Given the description of an element on the screen output the (x, y) to click on. 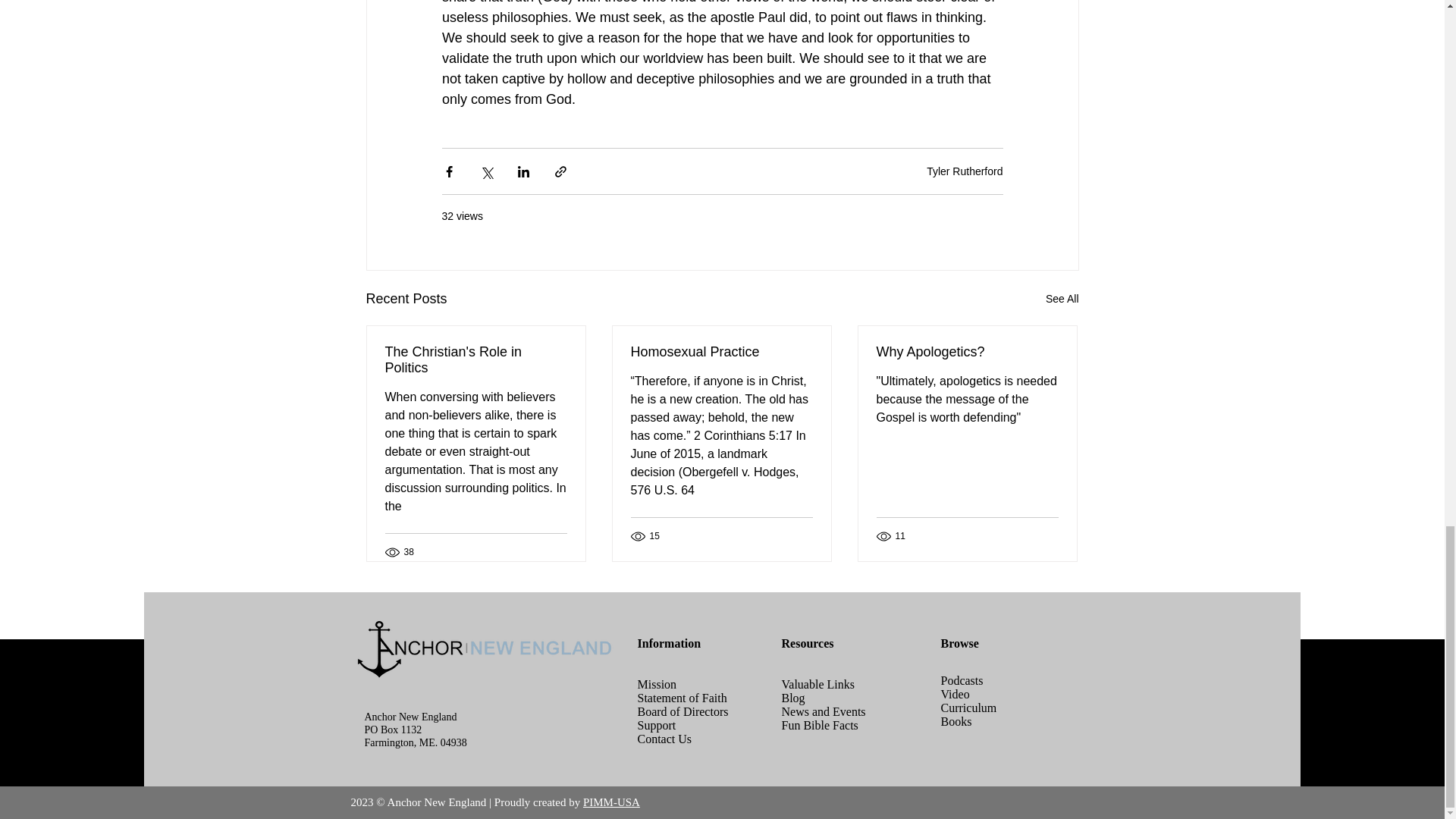
See All (1061, 299)
Tyler Rutherford (964, 171)
Statement of Faith (681, 697)
Support (656, 725)
Board of Directors (682, 711)
Mission (657, 684)
Why Apologetics? (967, 351)
The Christian's Role in Politics (476, 359)
Homosexual Practice (721, 351)
